Given the description of an element on the screen output the (x, y) to click on. 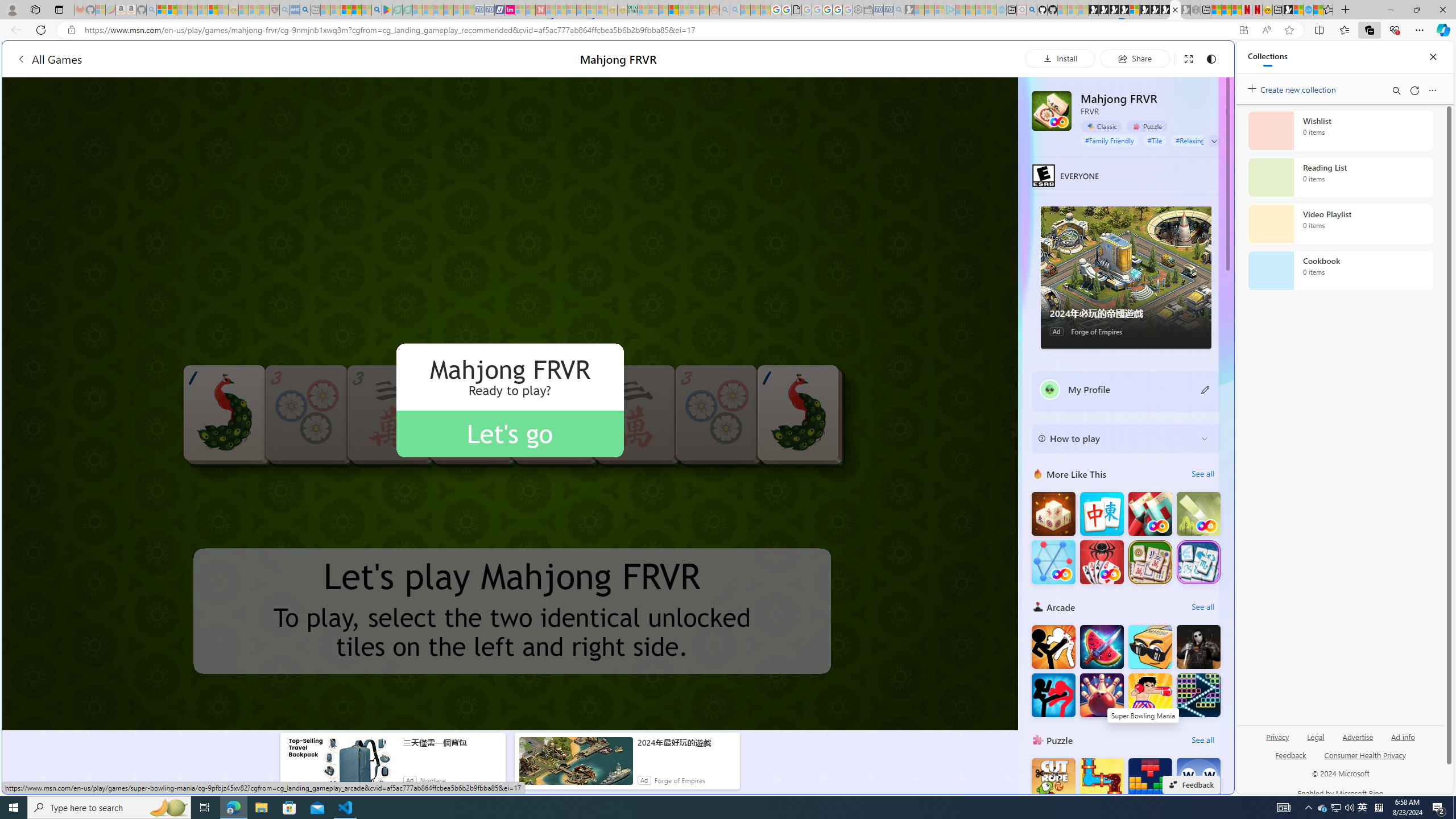
github - Search (1032, 9)
Zodiac Mahjong (1198, 562)
#Relaxing (1189, 140)
Puzzle (1037, 739)
Super Bowling Mania (1101, 694)
